Given the description of an element on the screen output the (x, y) to click on. 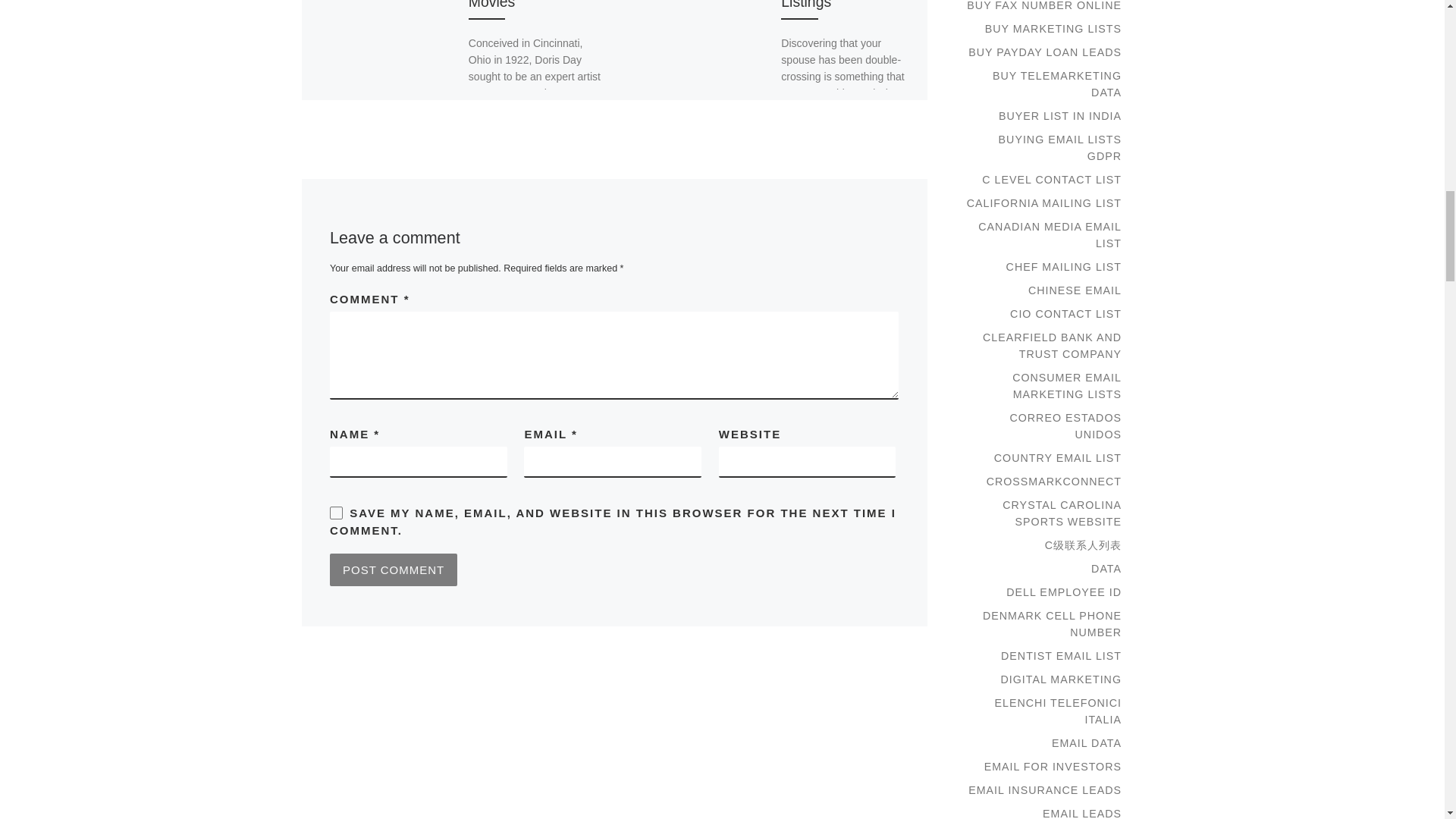
Post Comment (393, 569)
Top 10 Doris Day Movies (524, 4)
yes (336, 512)
Cell Phone Number Listings (845, 4)
Post Comment (393, 569)
